Given the description of an element on the screen output the (x, y) to click on. 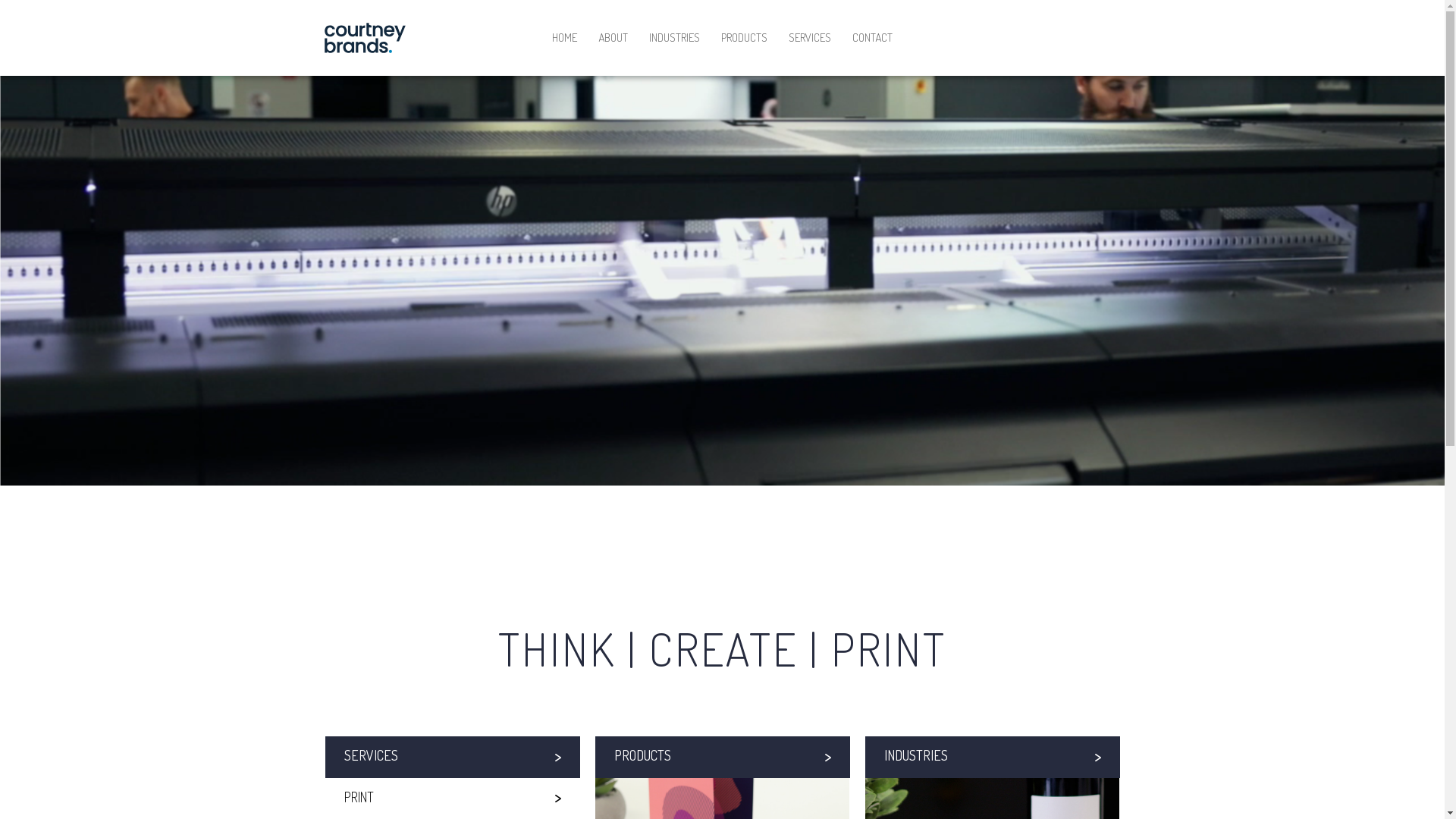
PRODUCTS Element type: text (744, 37)
INDUSTRIES Element type: text (991, 757)
CONTACT Element type: text (872, 37)
SERVICES Element type: text (451, 756)
PRODUCTS Element type: text (721, 757)
INDUSTRIES Element type: text (674, 37)
SERVICES Element type: text (809, 37)
ABOUT Element type: text (612, 37)
HOME Element type: text (564, 37)
